Given the description of an element on the screen output the (x, y) to click on. 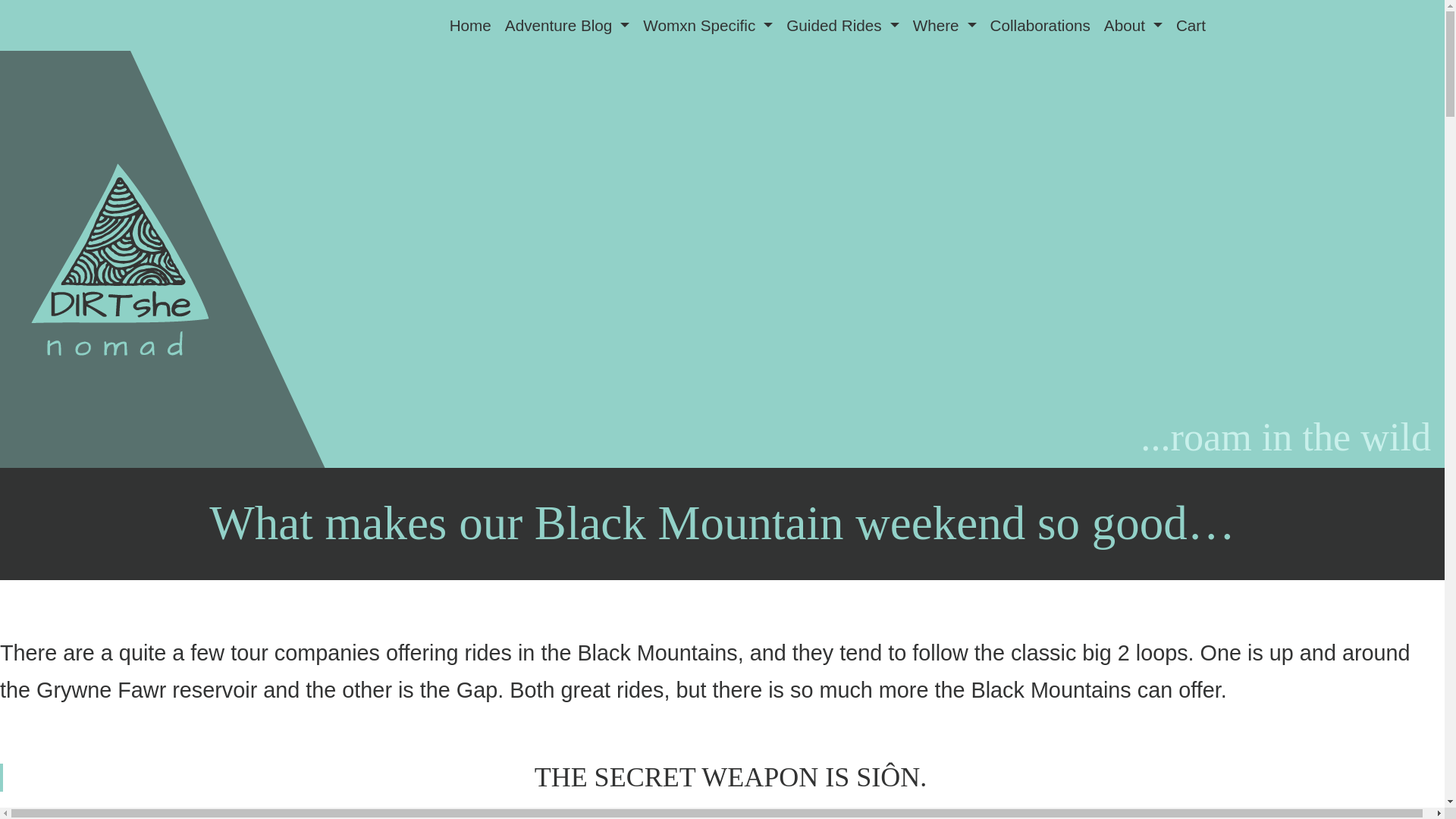
Home (469, 25)
Adventure Blog (566, 25)
Womxn Specific (707, 25)
Guided Rides (841, 25)
Where (944, 25)
About (1133, 25)
Home (469, 25)
Cart (1190, 25)
Womxn Specific (707, 25)
